Given the description of an element on the screen output the (x, y) to click on. 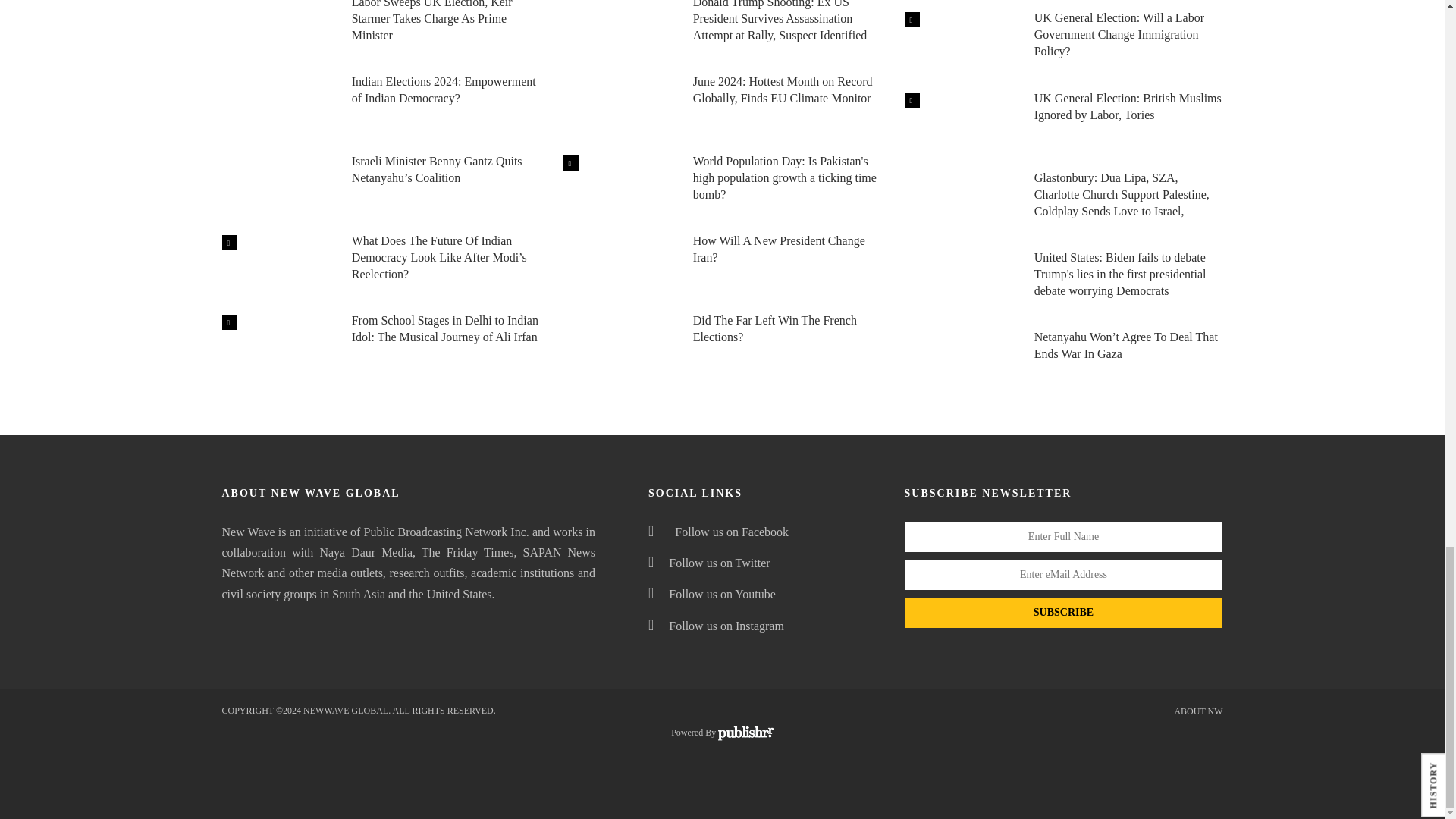
Did The Far Left Win The French Elections? (619, 346)
Subscribe (1063, 612)
Indian Elections 2024: Empowerment of Indian Democracy? (278, 108)
How Will A New President Change Iran? (619, 267)
